Given the description of an element on the screen output the (x, y) to click on. 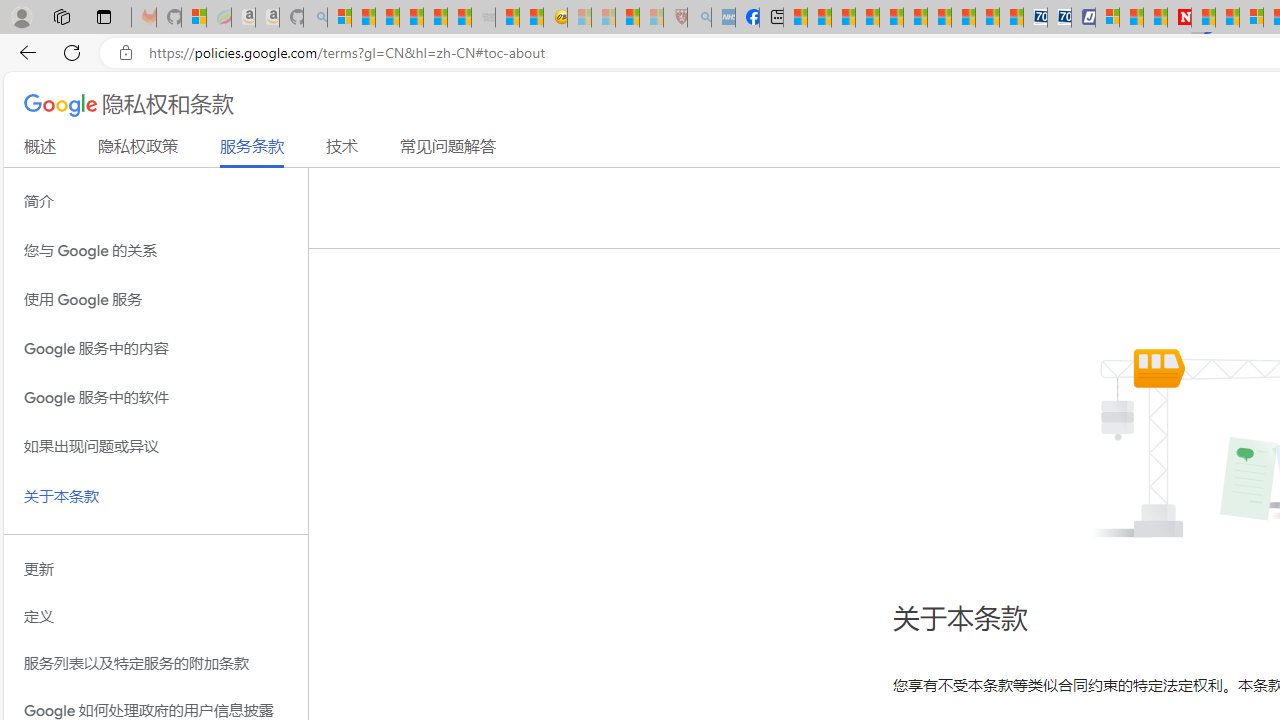
Climate Damage Becomes Too Severe To Reverse (867, 17)
Combat Siege - Sleeping (483, 17)
World - MSN (843, 17)
12 Popular Science Lies that Must be Corrected - Sleeping (651, 17)
New Report Confirms 2023 Was Record Hot | Watch (434, 17)
The Weather Channel - MSN (387, 17)
